Given the description of an element on the screen output the (x, y) to click on. 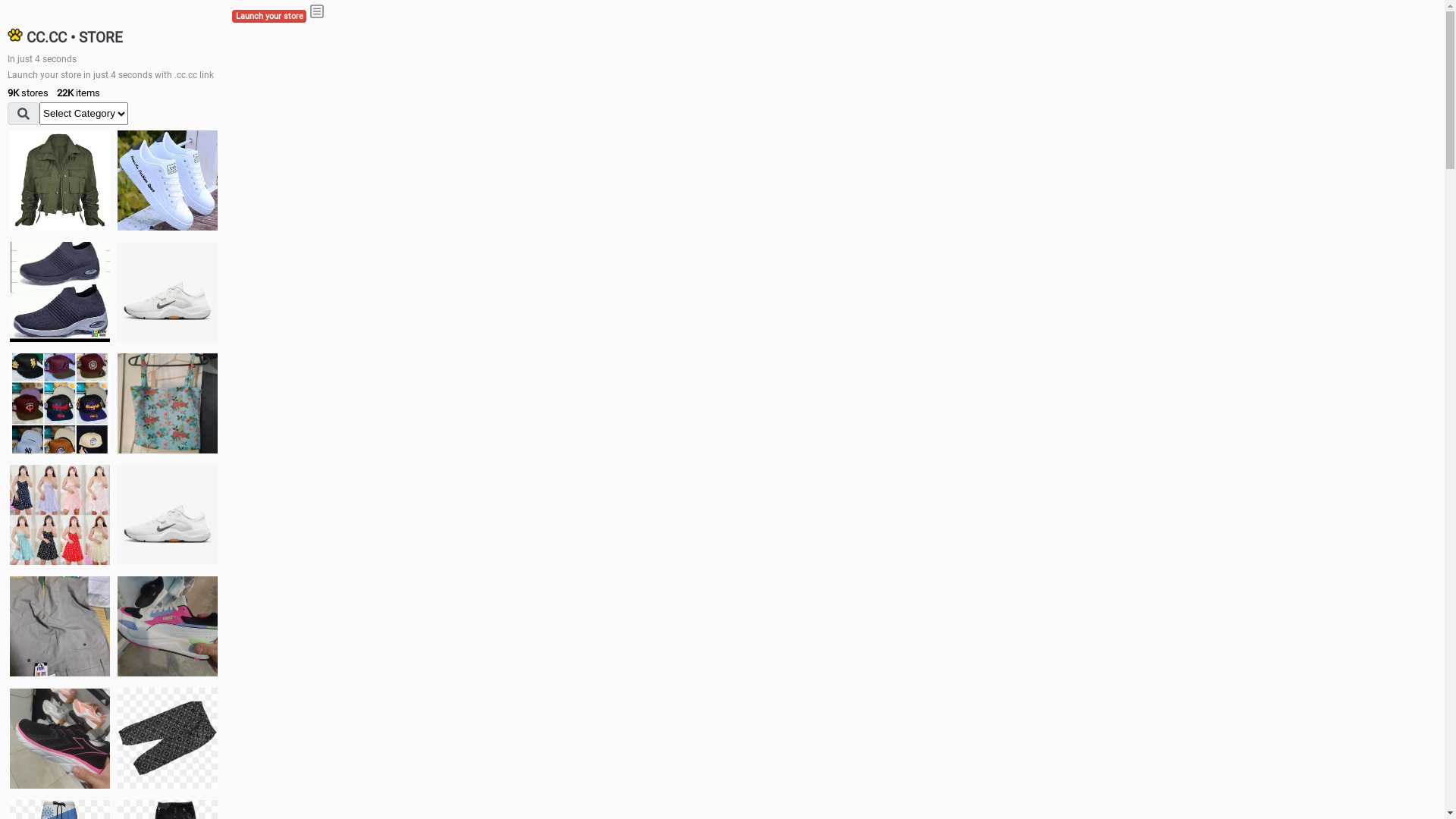
Things we need Element type: hover (59, 403)
white shoes Element type: hover (167, 180)
jacket Element type: hover (59, 180)
Ukay cloth Element type: hover (167, 403)
shoes for boys Element type: hover (59, 291)
Short pant Element type: hover (167, 737)
Launch your store Element type: text (269, 15)
Zapatillas pumas Element type: hover (167, 626)
Zapatillas Element type: hover (59, 738)
Dress/square nect top Element type: hover (59, 514)
Shoes for boys Element type: hover (167, 291)
Shoes Element type: hover (167, 514)
